Given the description of an element on the screen output the (x, y) to click on. 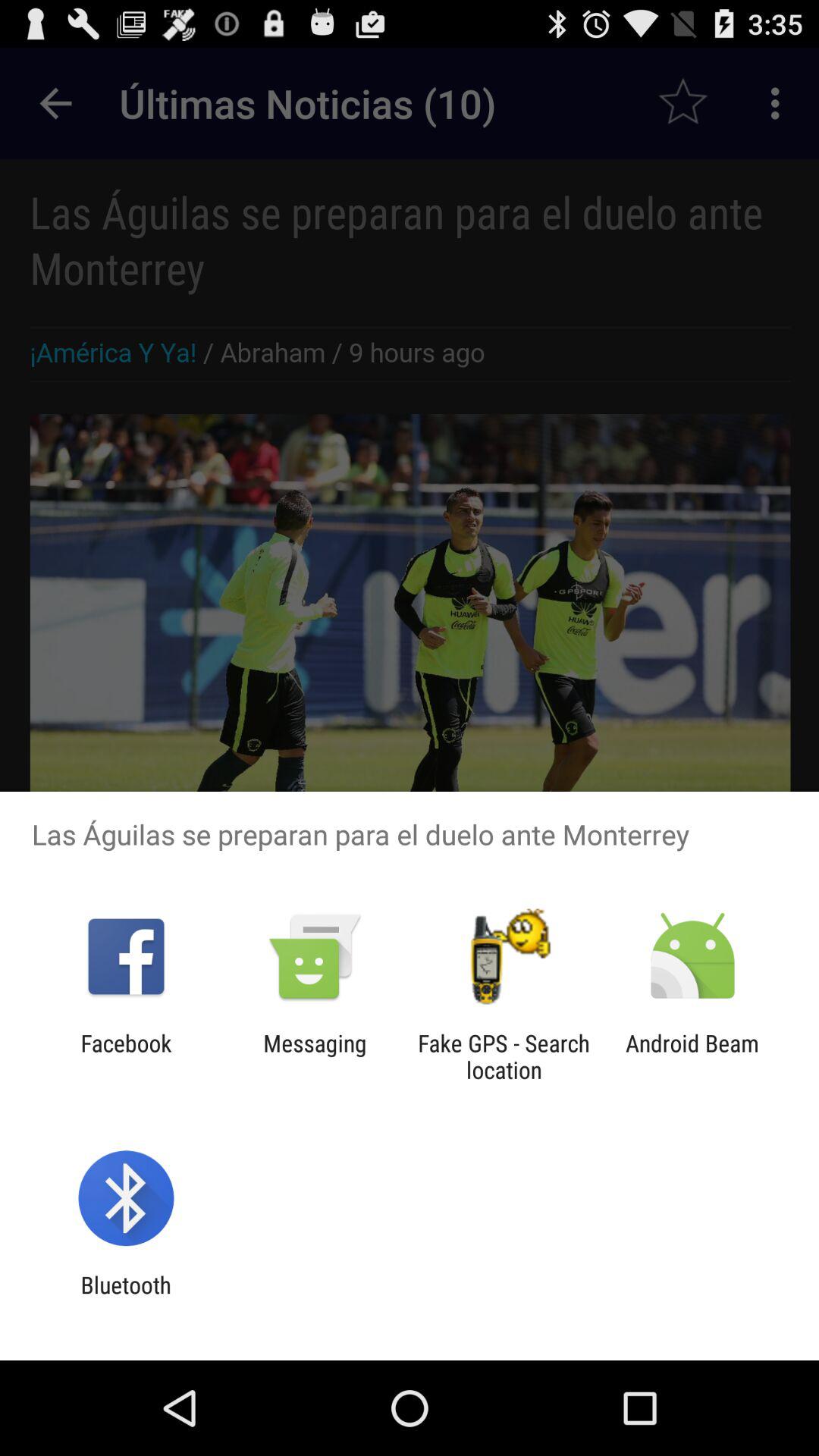
click icon next to the messaging item (125, 1056)
